Given the description of an element on the screen output the (x, y) to click on. 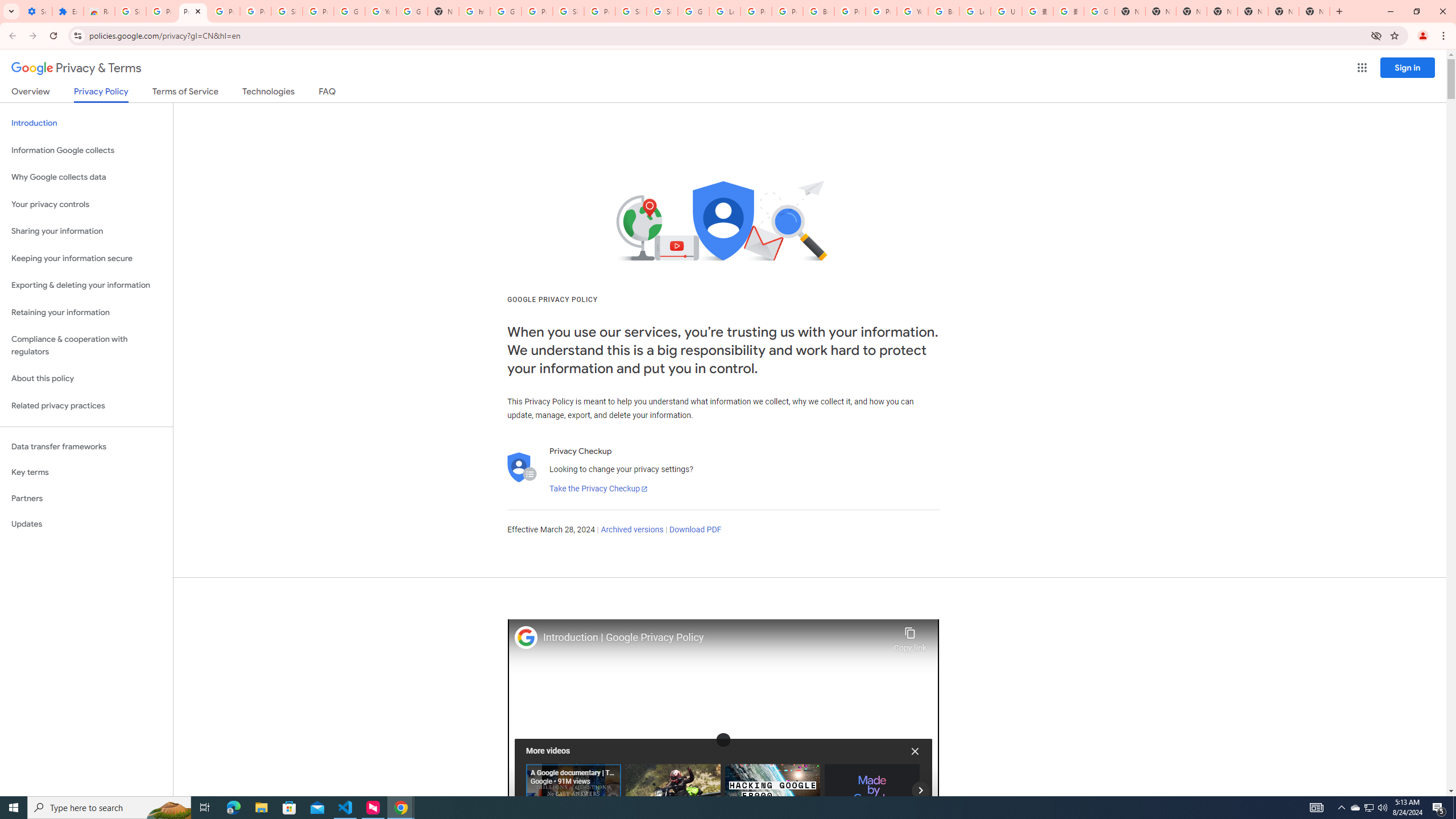
Keeping your information secure (86, 258)
Archived versions (631, 529)
Sign in - Google Accounts (662, 11)
Introduction (86, 122)
Sharing your information (86, 230)
Partners (86, 497)
Google Account (349, 11)
